Given the description of an element on the screen output the (x, y) to click on. 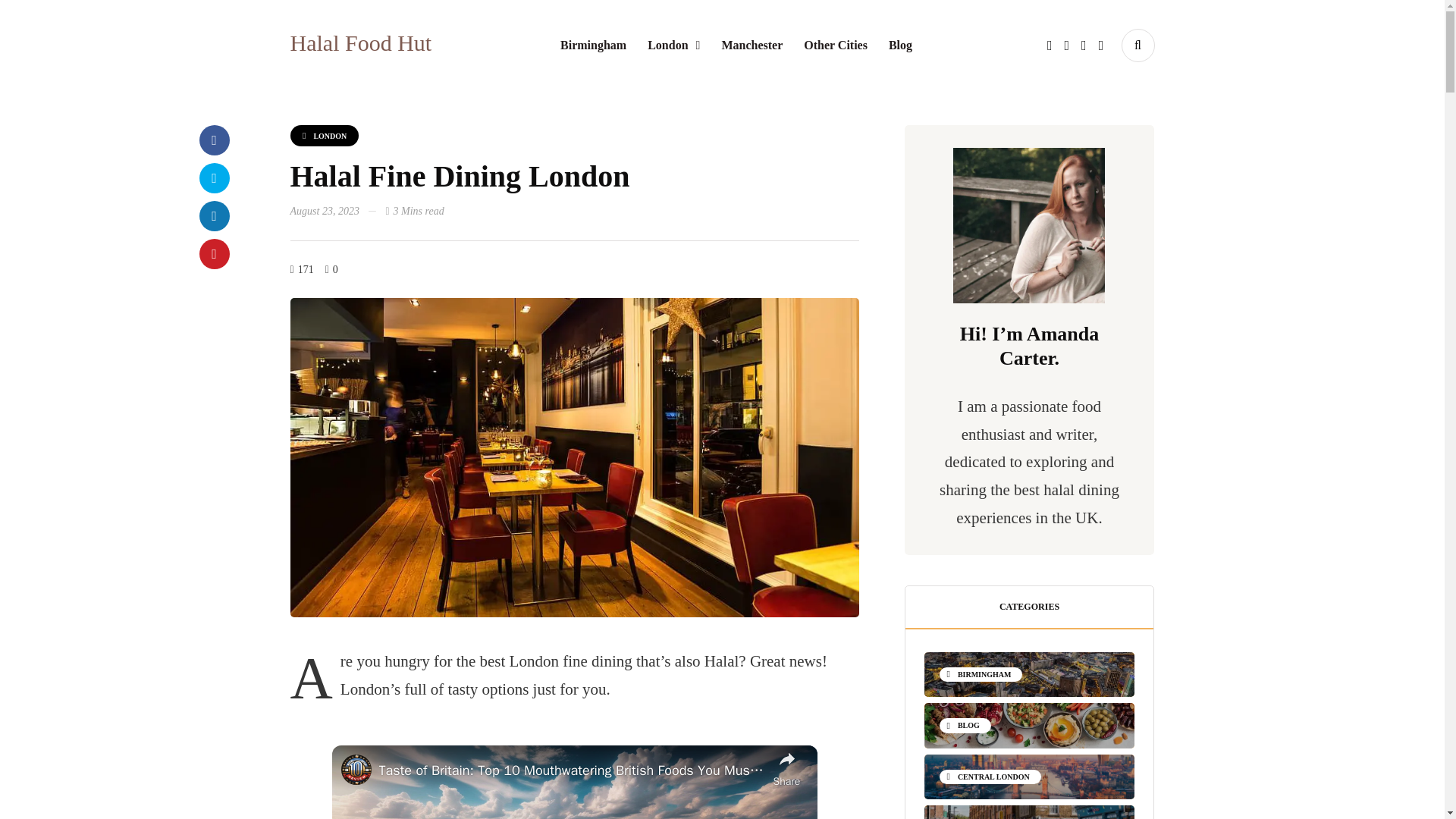
LONDON (323, 135)
Birmingham (593, 45)
Other Cities (835, 45)
Blog (900, 45)
London (673, 45)
Halal Food Hut (359, 42)
Manchester (751, 45)
